Given the description of an element on the screen output the (x, y) to click on. 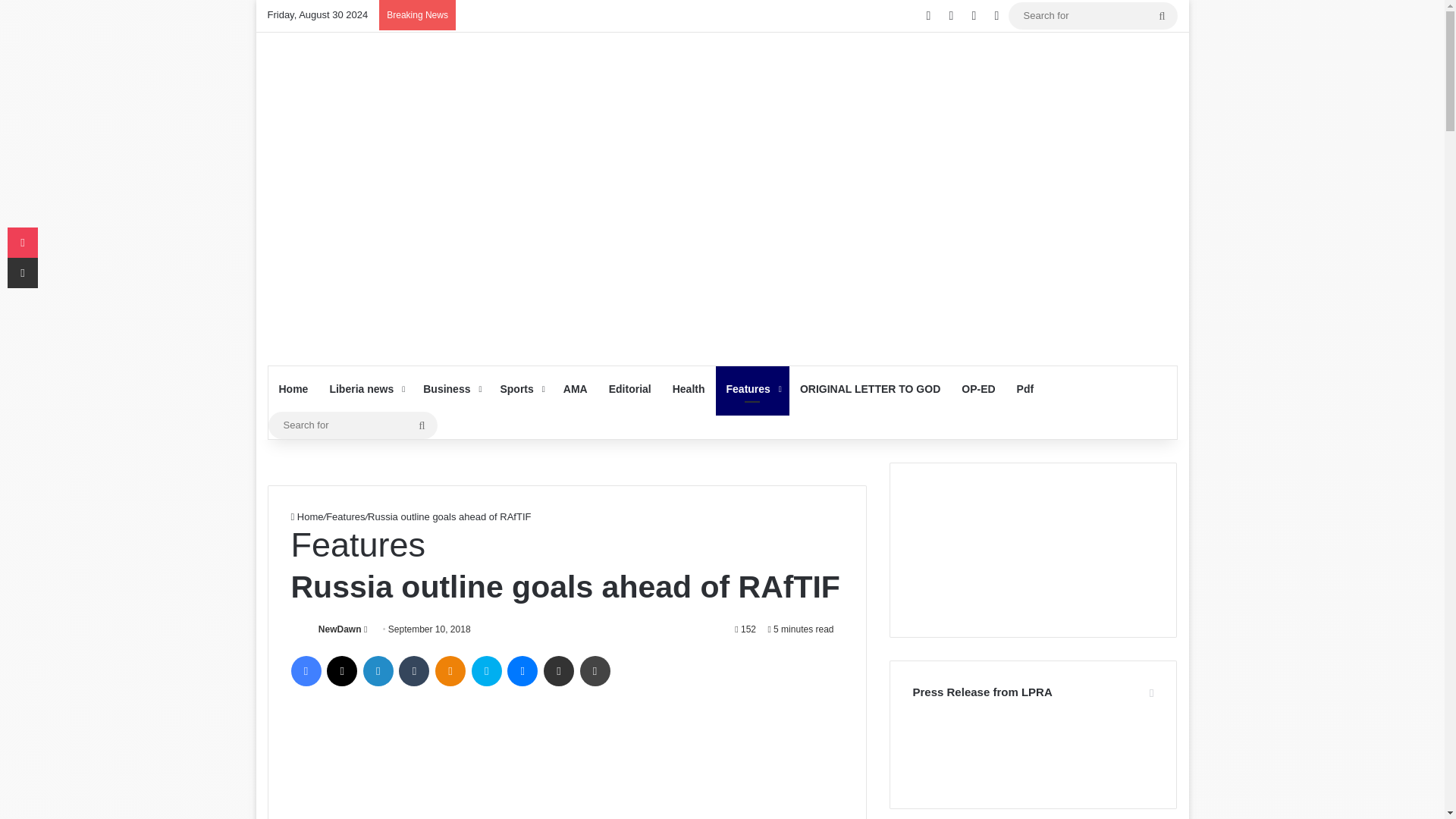
Share via Email (558, 671)
Sports (520, 388)
NewDawn (339, 629)
X (341, 671)
Business (450, 388)
Skype (486, 671)
Odnoklassniki (450, 671)
Search for (352, 424)
Liberia news (365, 388)
Home (292, 388)
